Given the description of an element on the screen output the (x, y) to click on. 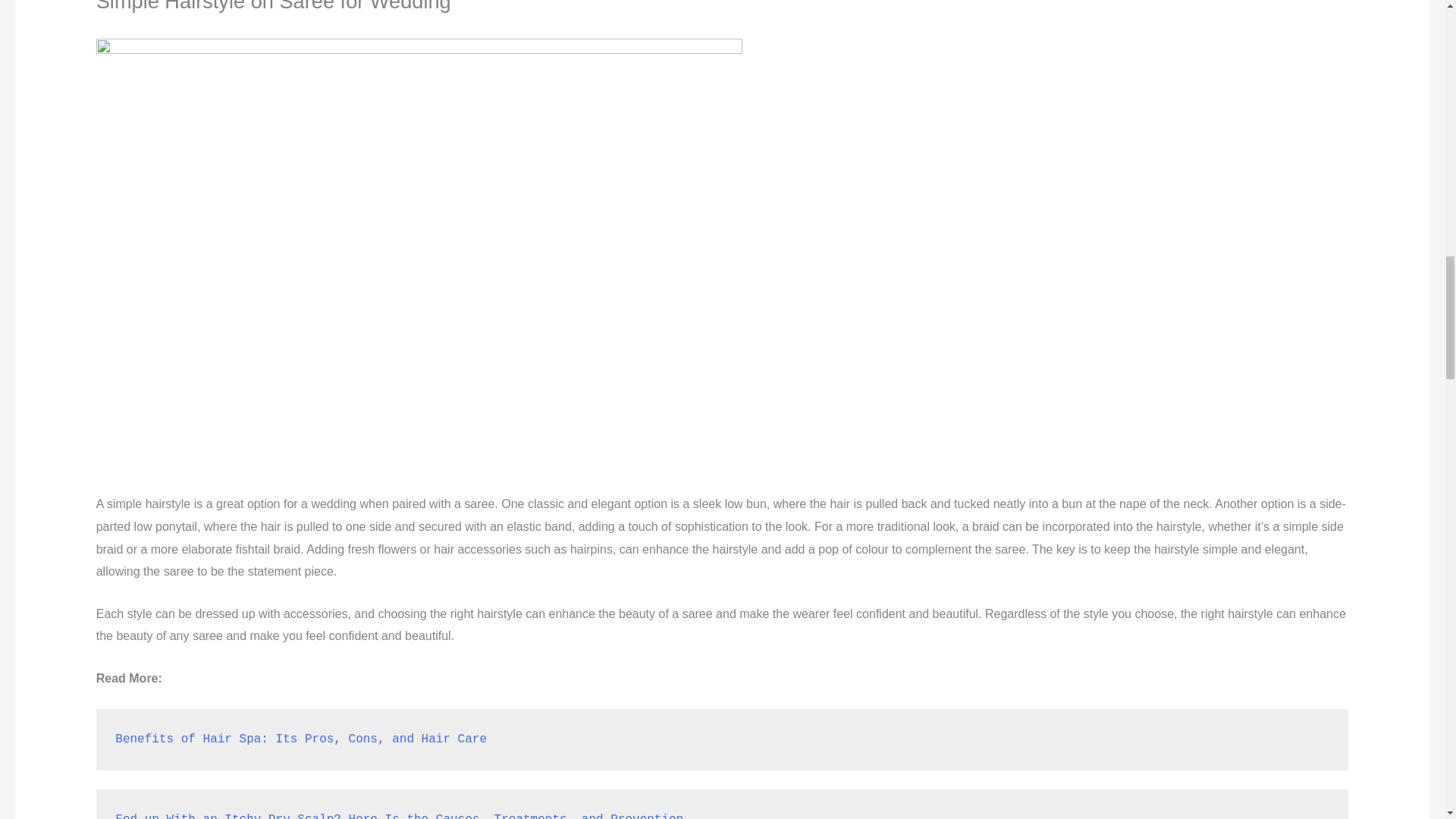
Benefits of Hair Spa: Its Pros, Cons, and Hair Care (300, 739)
